Given the description of an element on the screen output the (x, y) to click on. 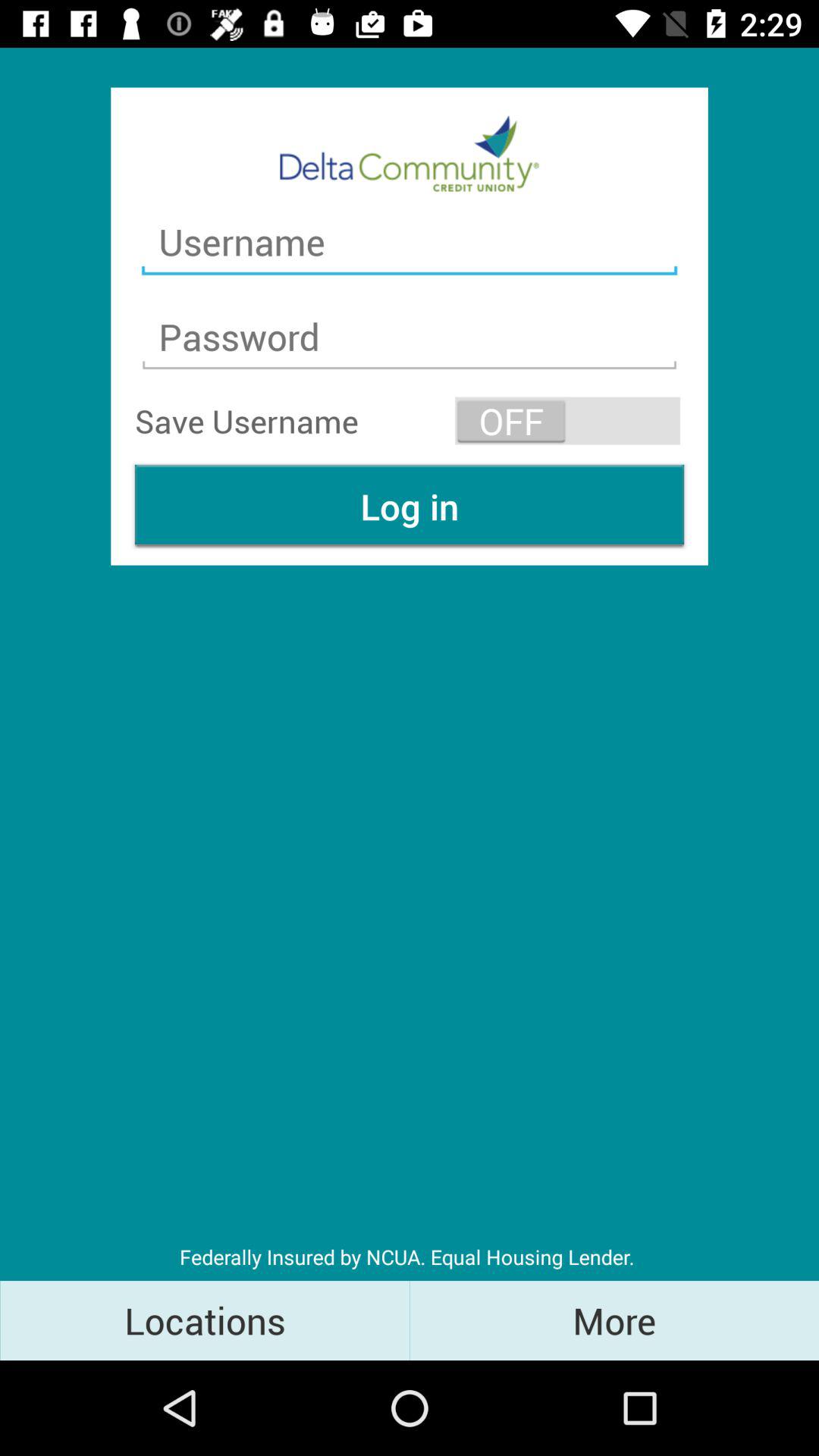
choose locations (204, 1320)
